Given the description of an element on the screen output the (x, y) to click on. 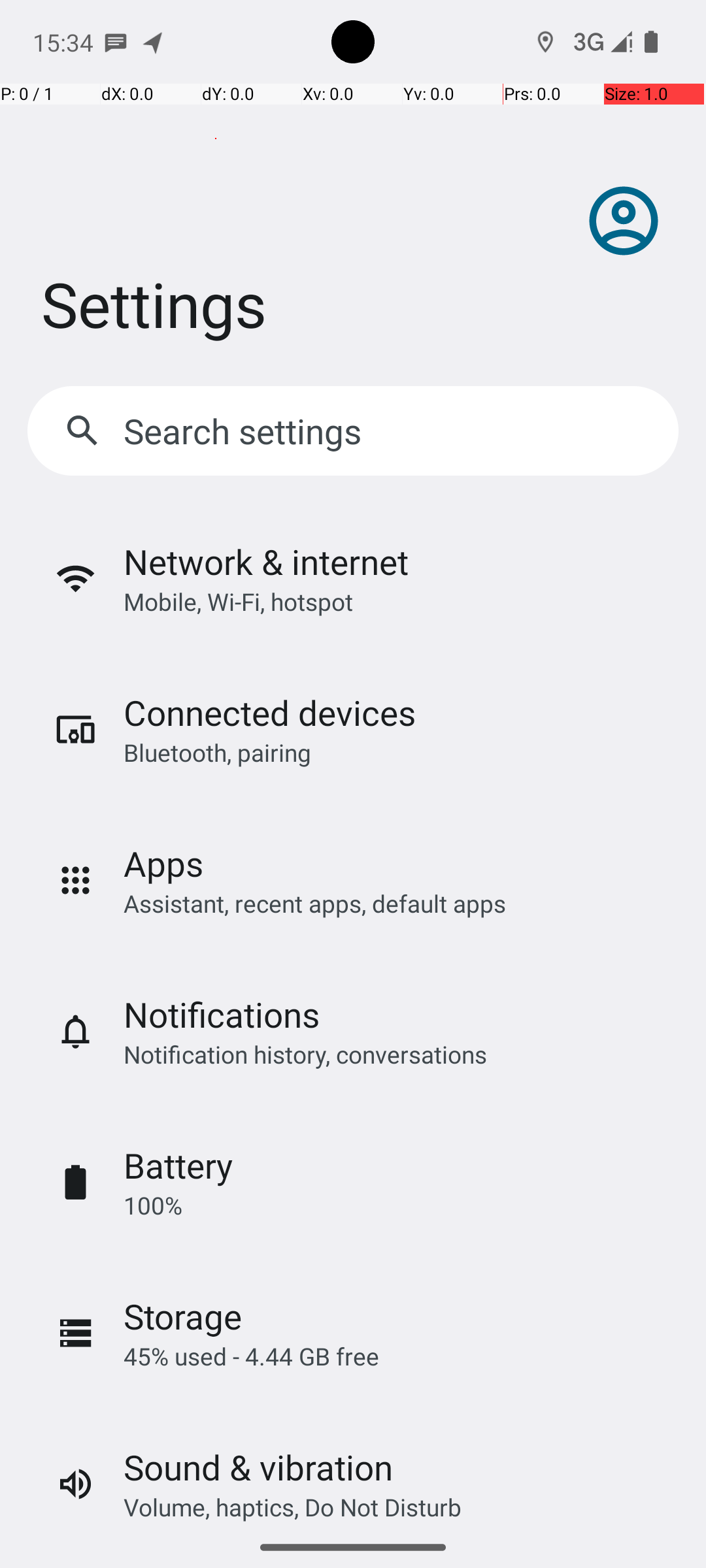
45% used - 4.44 GB free Element type: android.widget.TextView (251, 1355)
